Given the description of an element on the screen output the (x, y) to click on. 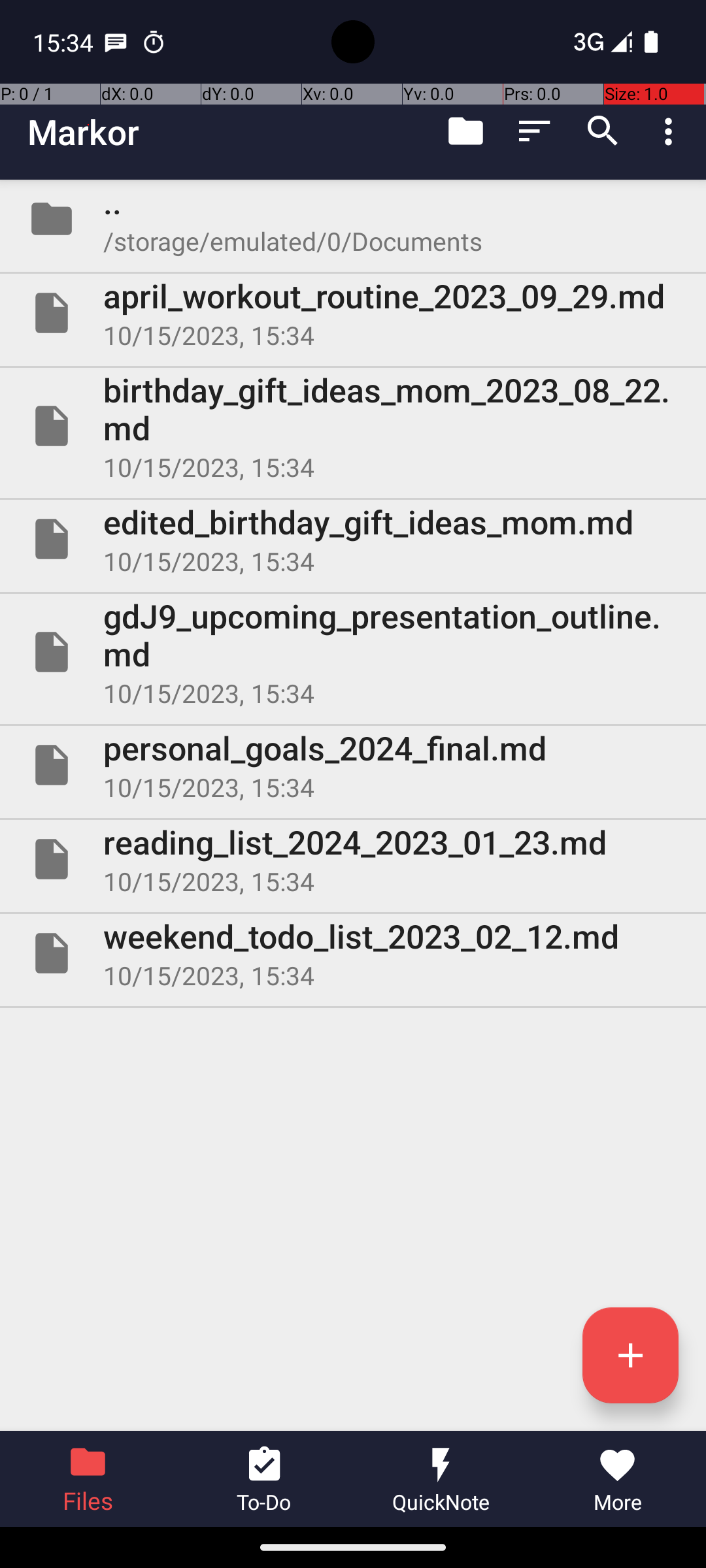
File april_workout_routine_2023_09_29.md  Element type: android.widget.LinearLayout (353, 312)
File birthday_gift_ideas_mom_2023_08_22.md  Element type: android.widget.LinearLayout (353, 425)
File edited_birthday_gift_ideas_mom.md  Element type: android.widget.LinearLayout (353, 538)
File gdJ9_upcoming_presentation_outline.md  Element type: android.widget.LinearLayout (353, 651)
File personal_goals_2024_final.md  Element type: android.widget.LinearLayout (353, 764)
File reading_list_2024_2023_01_23.md  Element type: android.widget.LinearLayout (353, 858)
File weekend_todo_list_2023_02_12.md  Element type: android.widget.LinearLayout (353, 953)
